Given the description of an element on the screen output the (x, y) to click on. 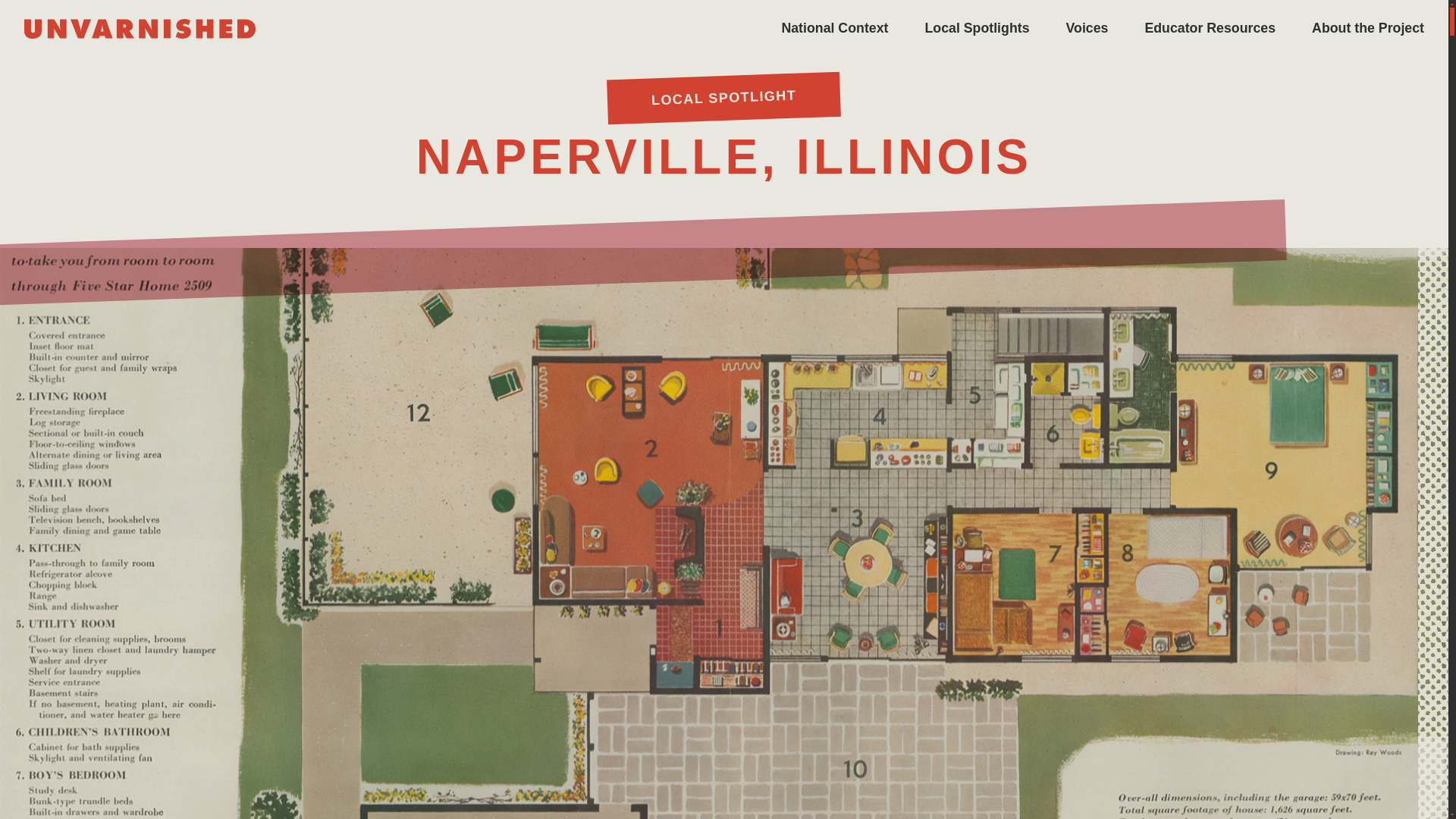
Voices (1086, 28)
Local Spotlights (976, 28)
Skip to Content (2, 2)
Unvarnished (140, 28)
Unvarnished (140, 28)
About the Project (1367, 28)
Educator Resources (1209, 28)
National Context (834, 28)
